Given the description of an element on the screen output the (x, y) to click on. 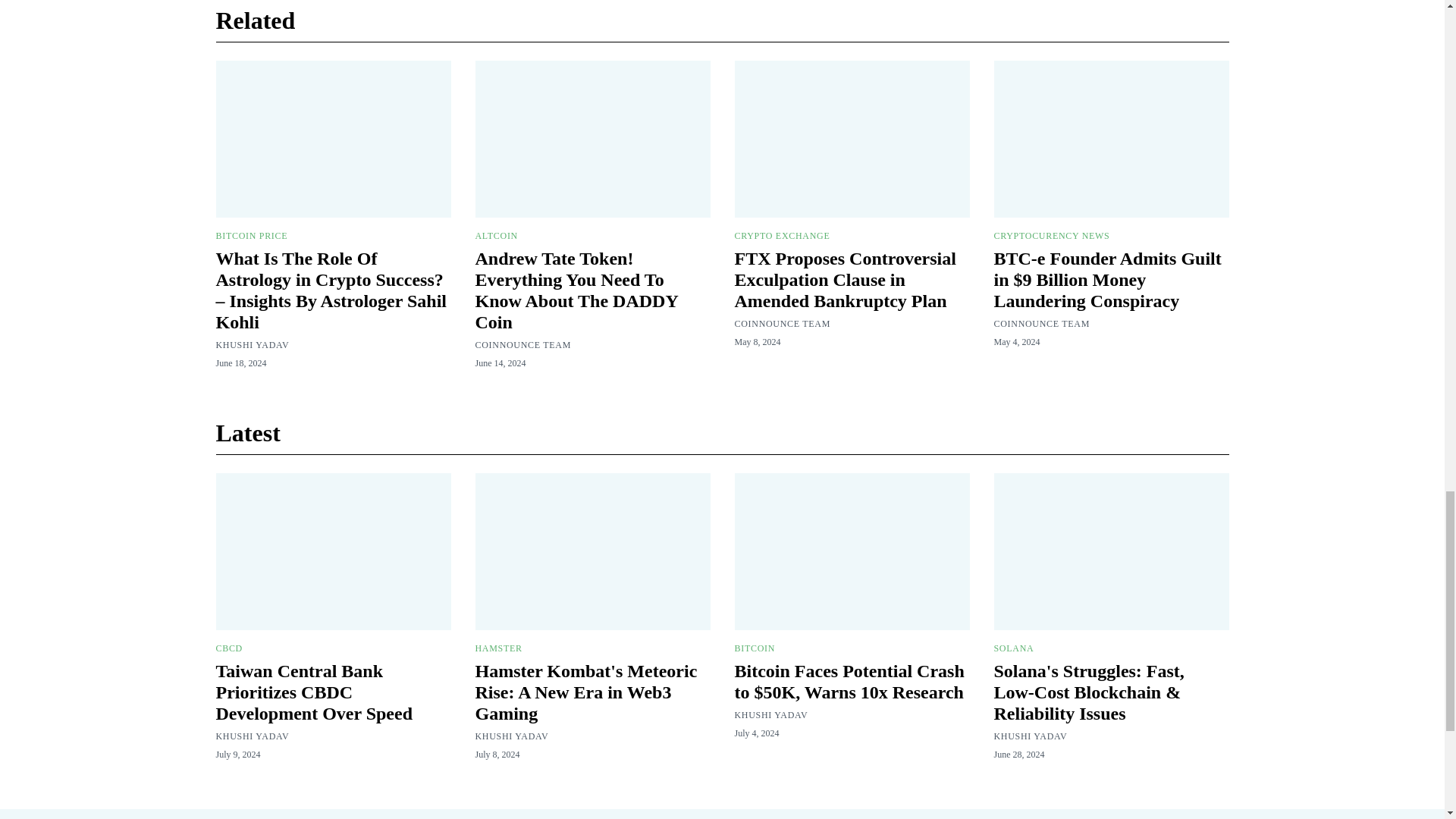
COINNOUNCE TEAM (522, 345)
COINNOUNCE TEAM (1040, 323)
ALTCOIN (495, 235)
COINNOUNCE TEAM (781, 323)
CRYPTOCURENCY NEWS (1050, 235)
BITCOIN PRICE (250, 235)
CRYPTO EXCHANGE (781, 235)
KHUSHI YADAV (251, 345)
